Given the description of an element on the screen output the (x, y) to click on. 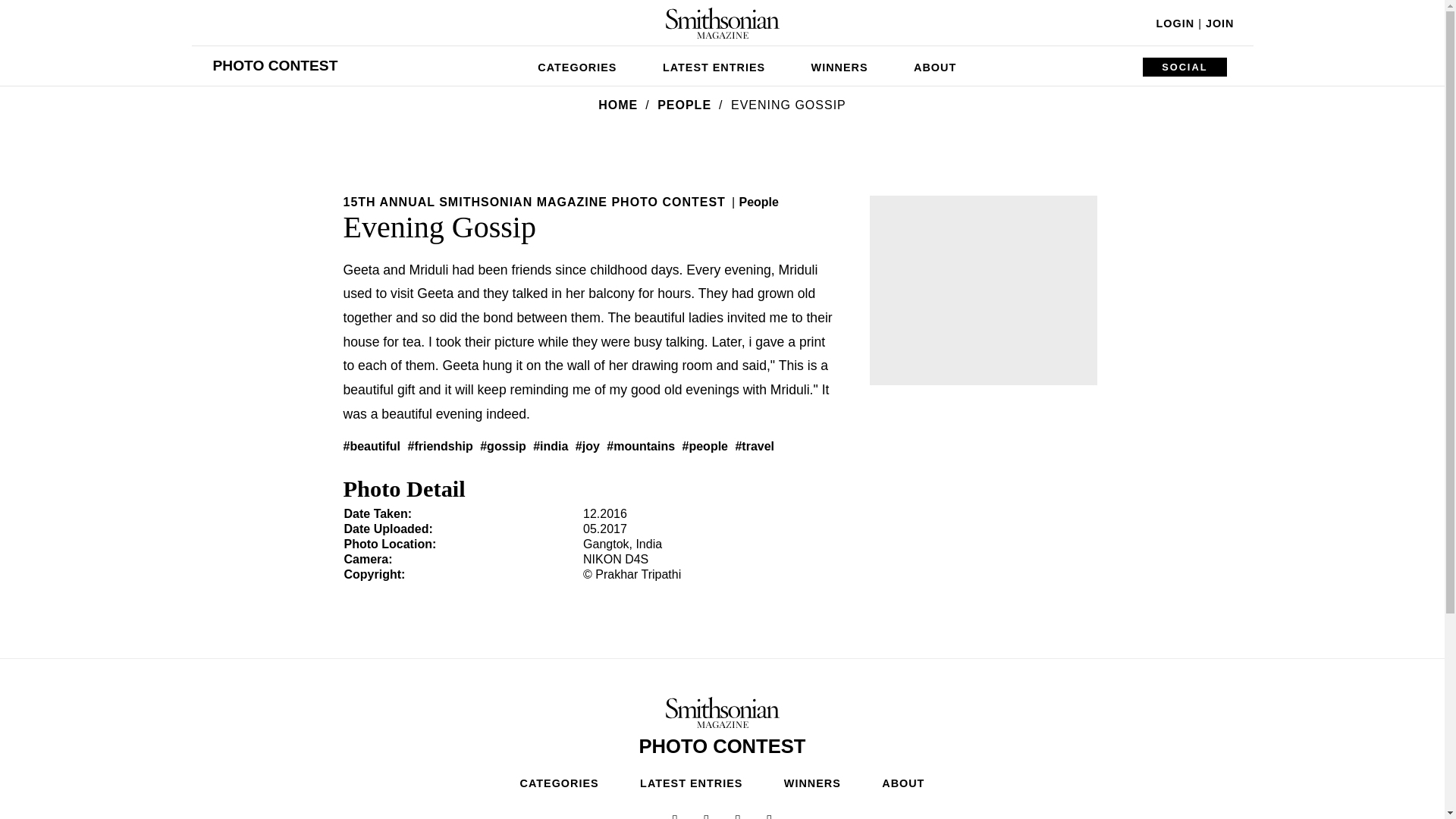
ABOUT (934, 65)
LATEST ENTRIES (713, 65)
WINNERS (839, 65)
PHOTO CONTEST (274, 65)
JOIN (1219, 23)
SOCIAL (1183, 66)
CATEGORIES (577, 65)
